Given the description of an element on the screen output the (x, y) to click on. 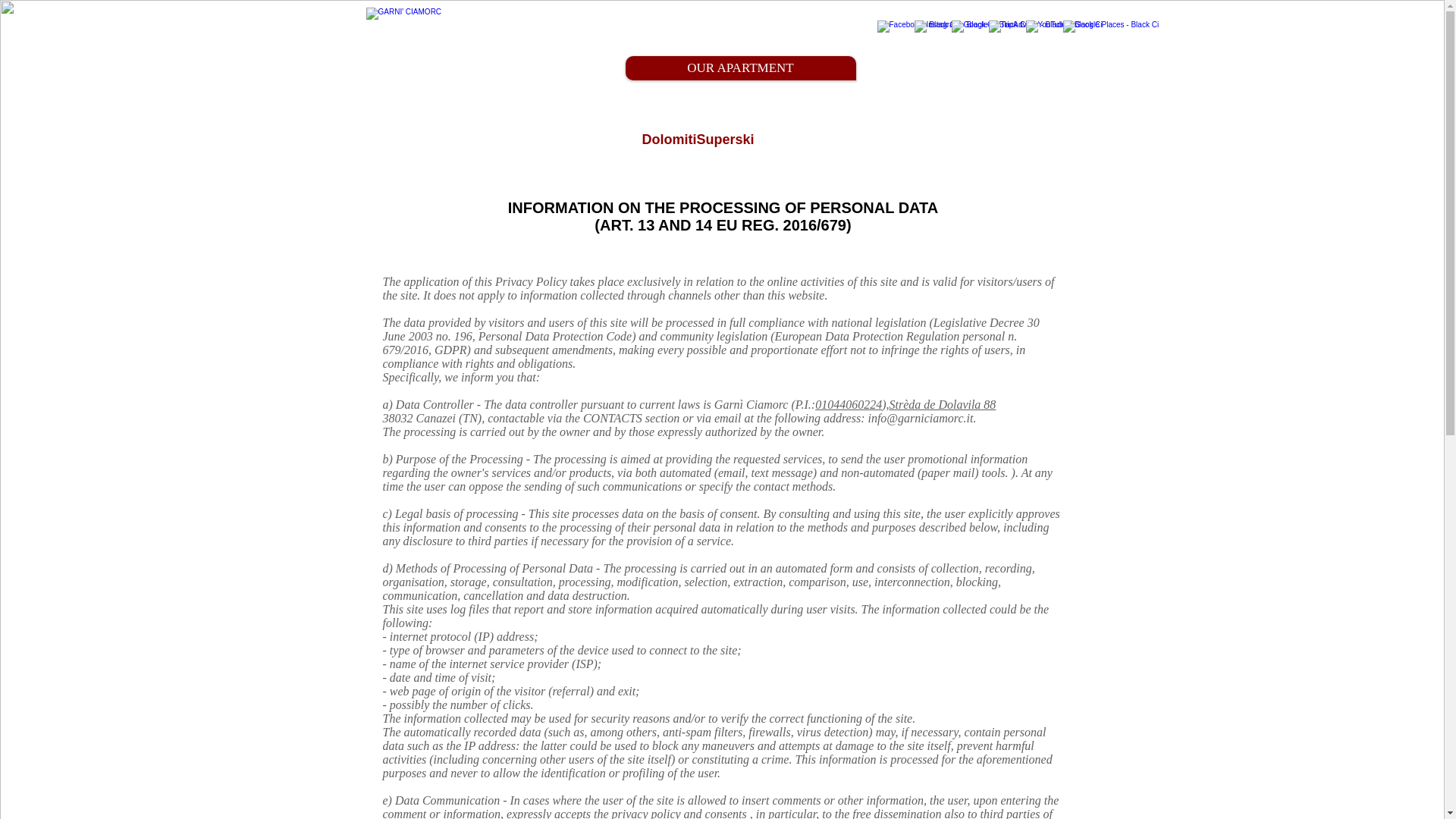
DolomitiSuperski (698, 140)
OUR APARTMENT (740, 68)
01044060224 (848, 404)
